Given the description of an element on the screen output the (x, y) to click on. 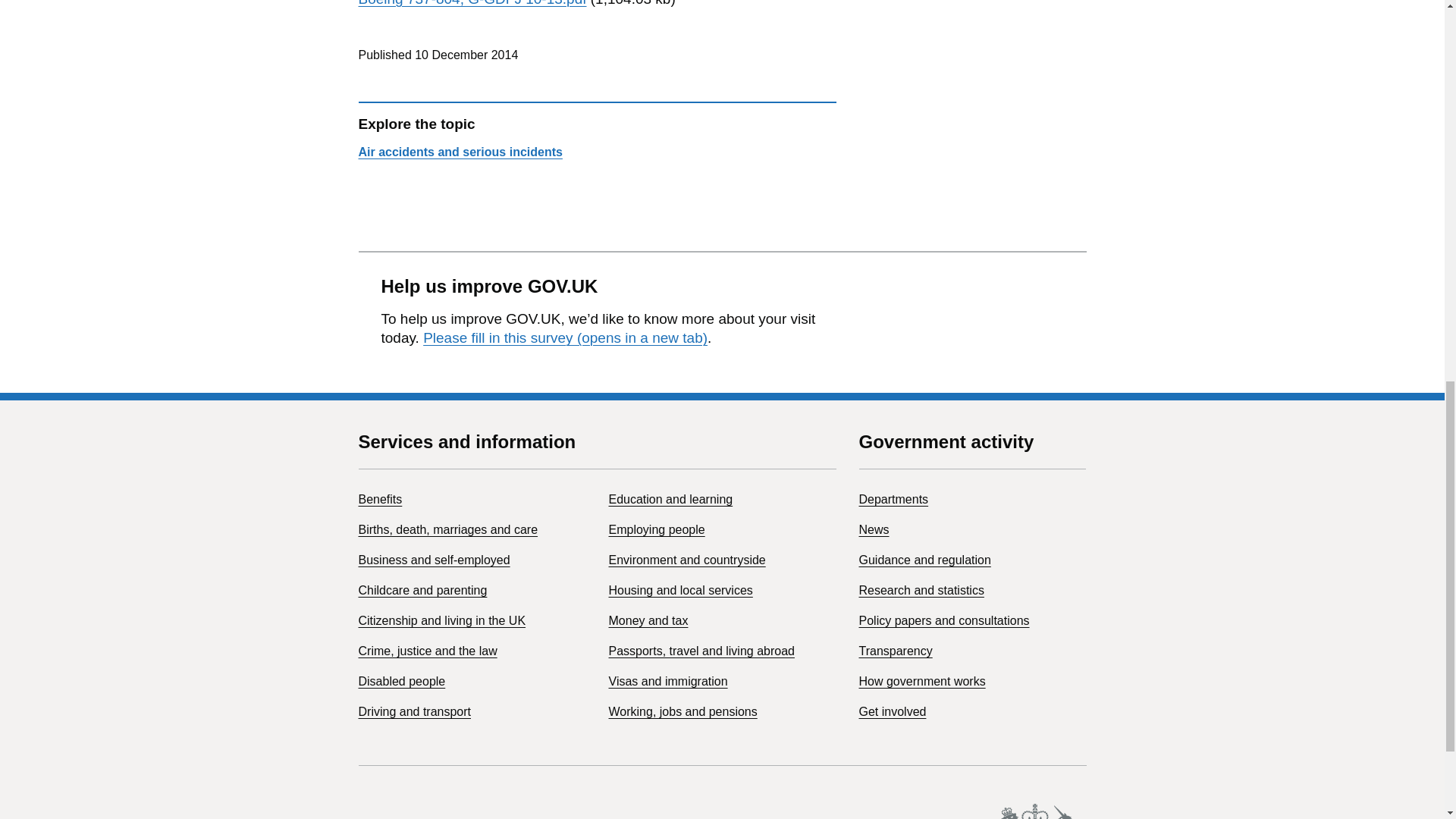
Guidance and regulation (924, 559)
Policy papers and consultations (944, 620)
Money and tax (647, 620)
Births, death, marriages and care (447, 529)
Business and self-employed (433, 559)
Boeing 737-804, G-GDFJ 10-13.pdf (472, 3)
Passports, travel and living abroad (700, 650)
Disabled people (401, 680)
Housing and local services (680, 590)
Crime, justice and the law (427, 650)
